Given the description of an element on the screen output the (x, y) to click on. 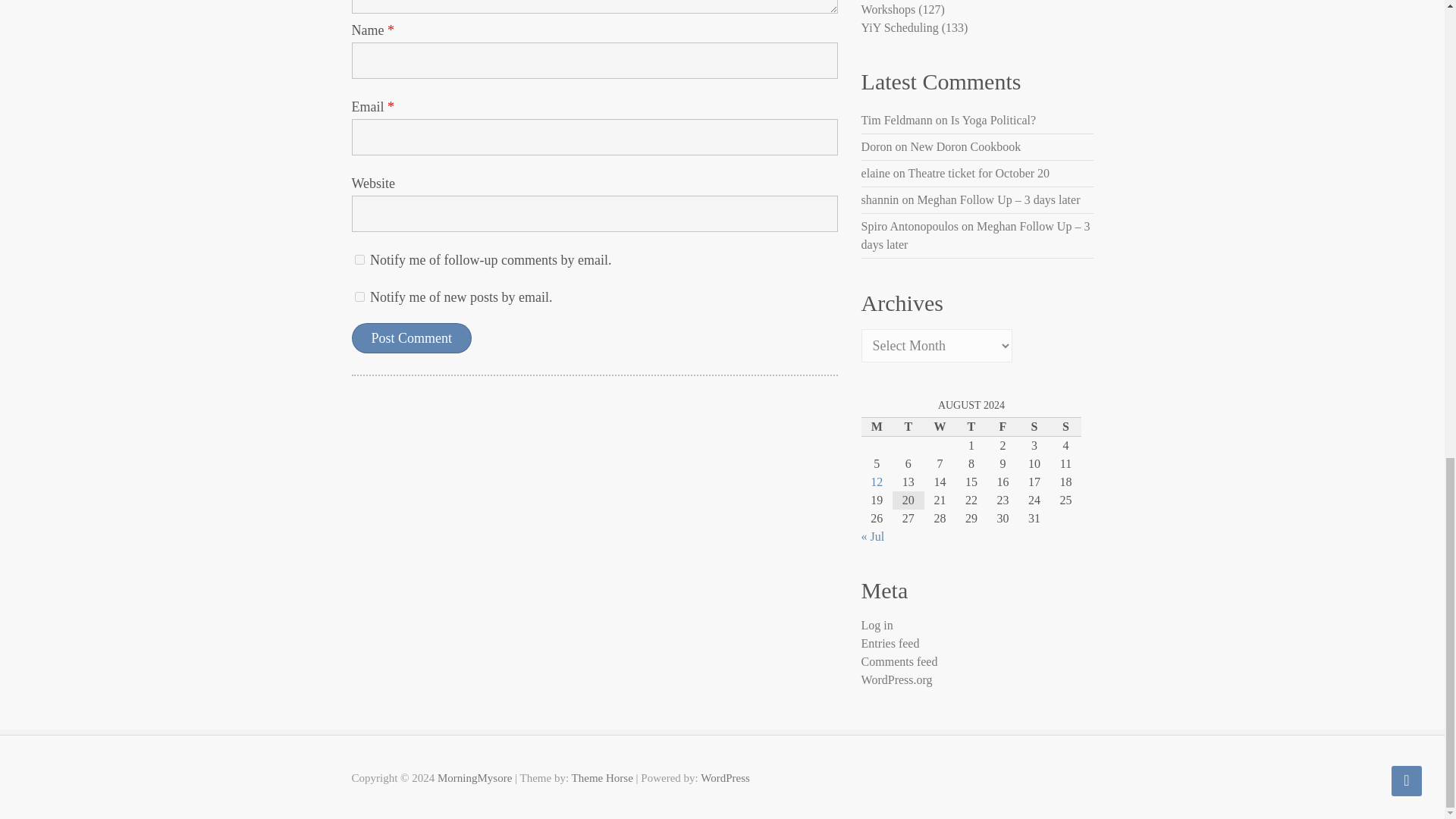
Saturday (1033, 426)
Tuesday (908, 426)
Post Comment (411, 337)
subscribe (360, 259)
Monday (877, 426)
Thursday (971, 426)
Sunday (1065, 426)
Wednesday (940, 426)
Friday (1003, 426)
subscribe (360, 296)
